Given the description of an element on the screen output the (x, y) to click on. 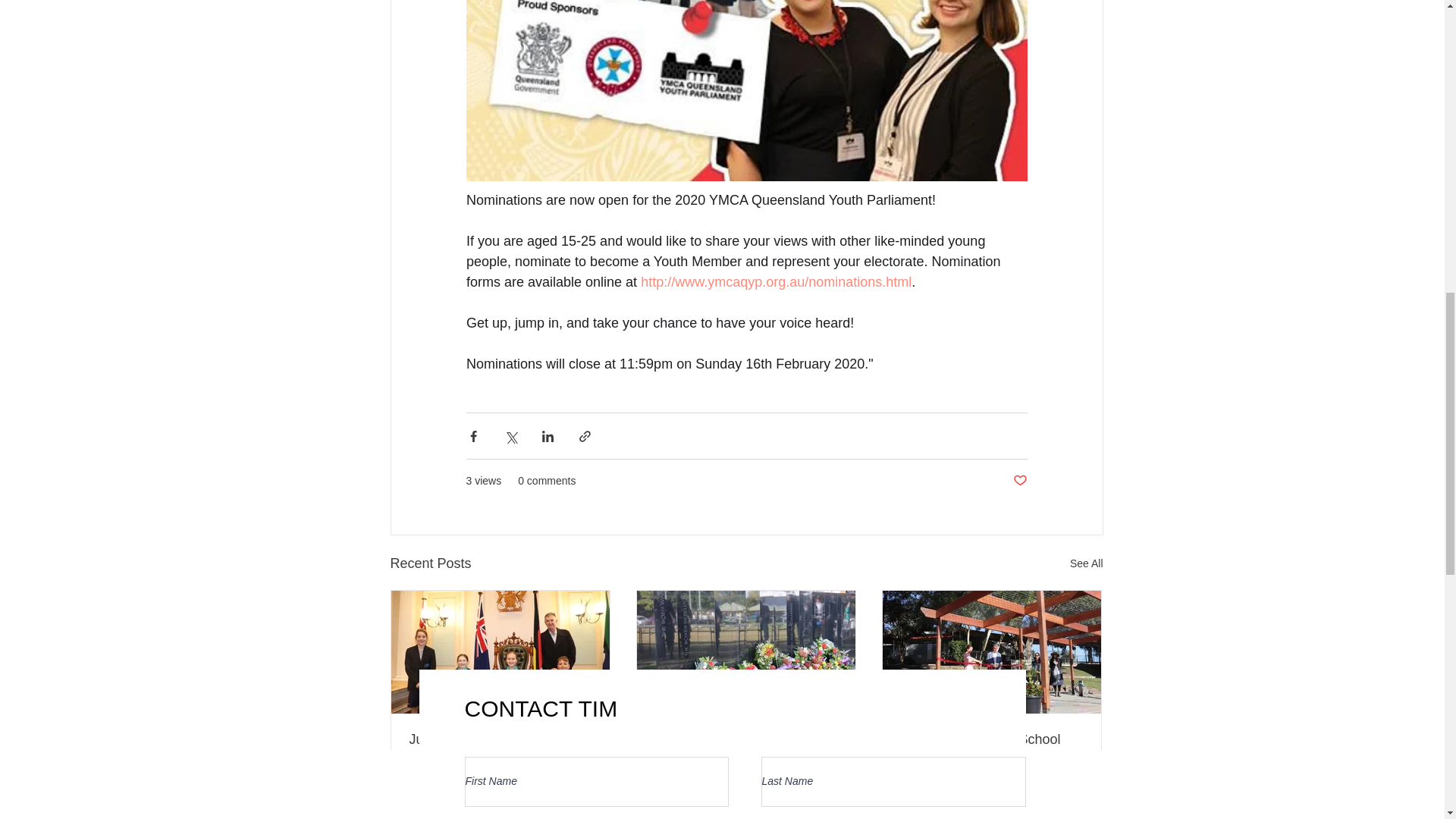
Everton Park State School Butterfly Arbor (992, 747)
Post not marked as liked (1020, 480)
0 (710, 800)
Post not marked as liked (583, 801)
Post not marked as liked (1074, 801)
0 (458, 800)
See All (1086, 563)
Junior School Leaders Visit Parliament! (500, 747)
Post not marked as liked (828, 801)
Vietnam Veterans' Day (746, 739)
